Given the description of an element on the screen output the (x, y) to click on. 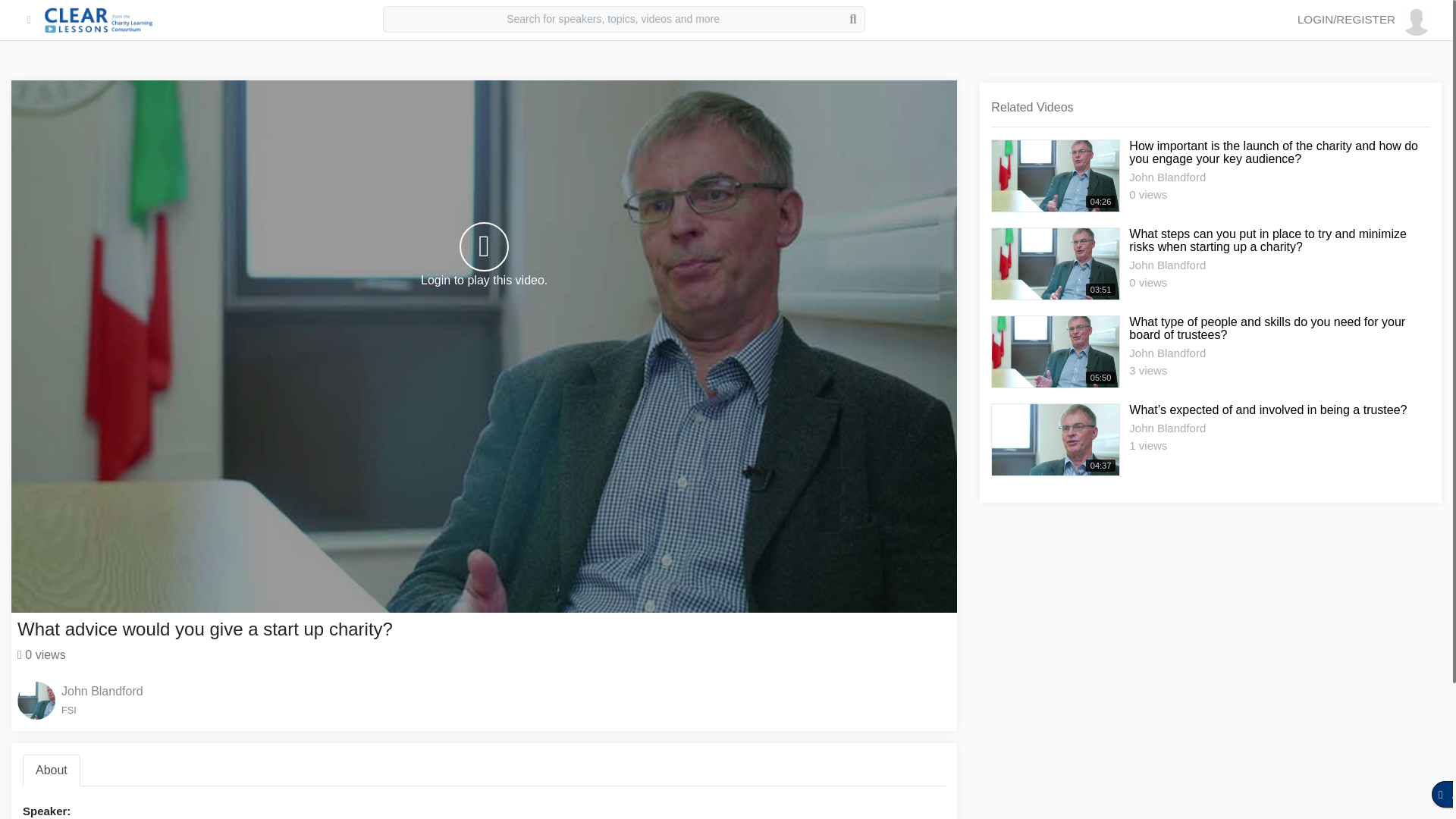
0 views (41, 654)
John Blandford (101, 690)
FSI (101, 710)
About (51, 770)
